Given the description of an element on the screen output the (x, y) to click on. 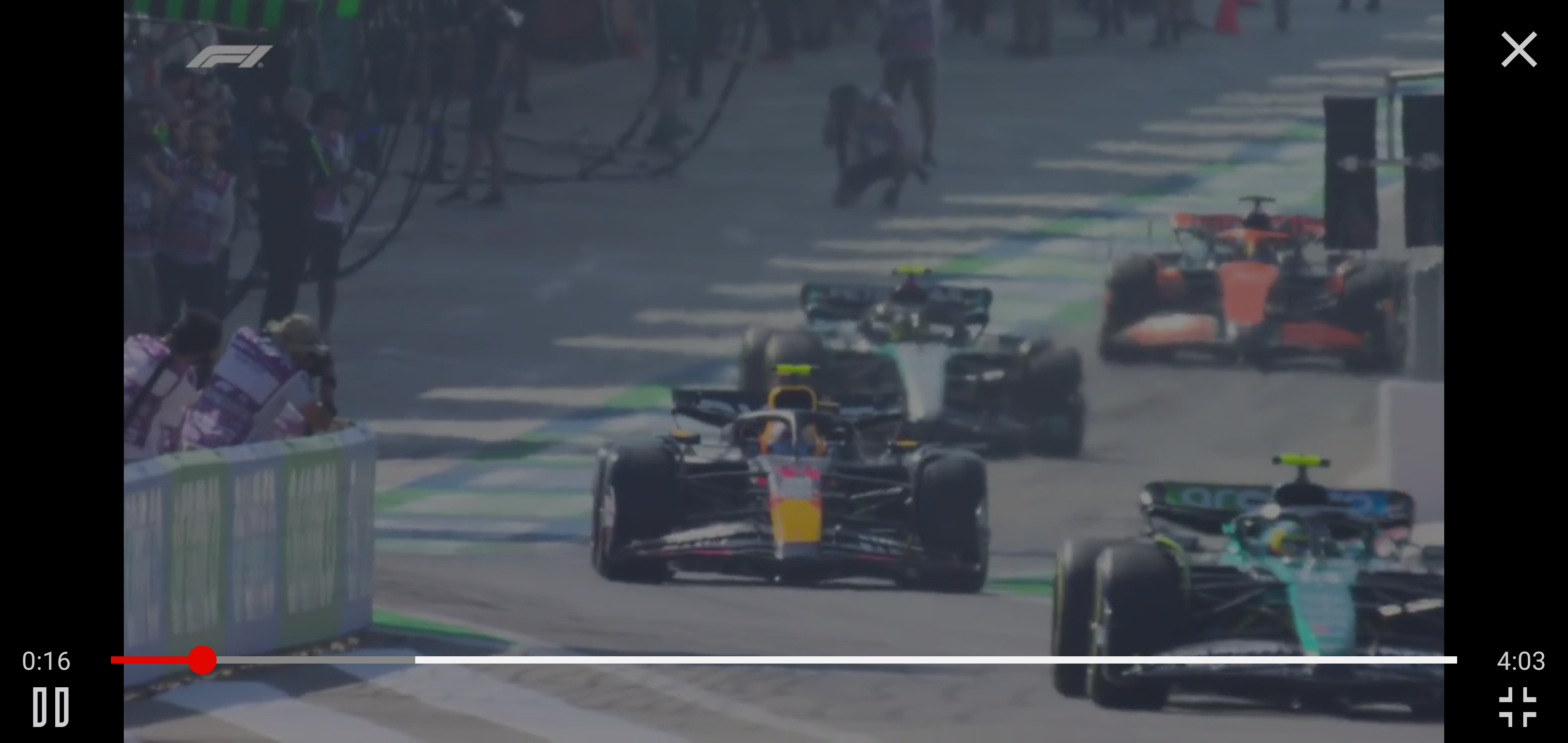
 Close (1518, 49)
B Pause (50, 706)
D Exit Fullscreen (1517, 706)
